Given the description of an element on the screen output the (x, y) to click on. 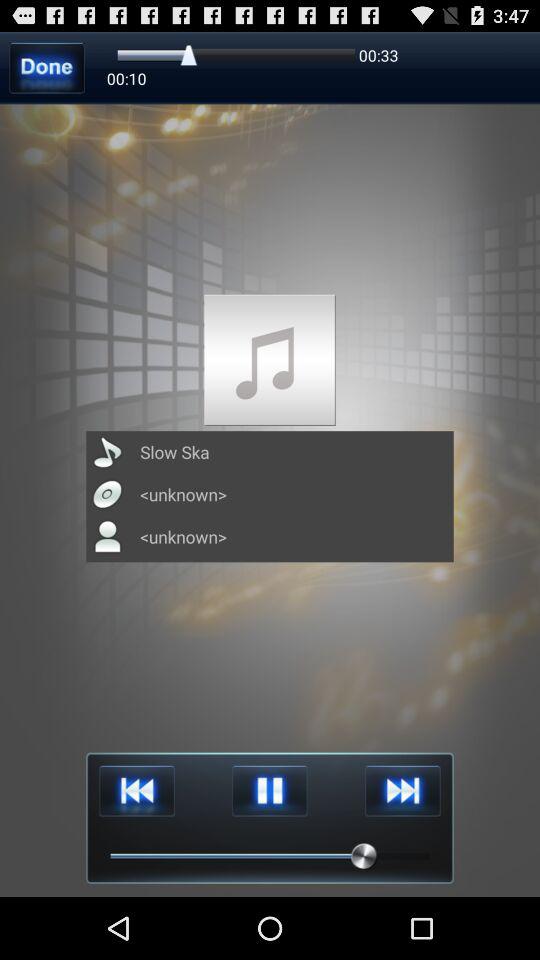
done (46, 67)
